Given the description of an element on the screen output the (x, y) to click on. 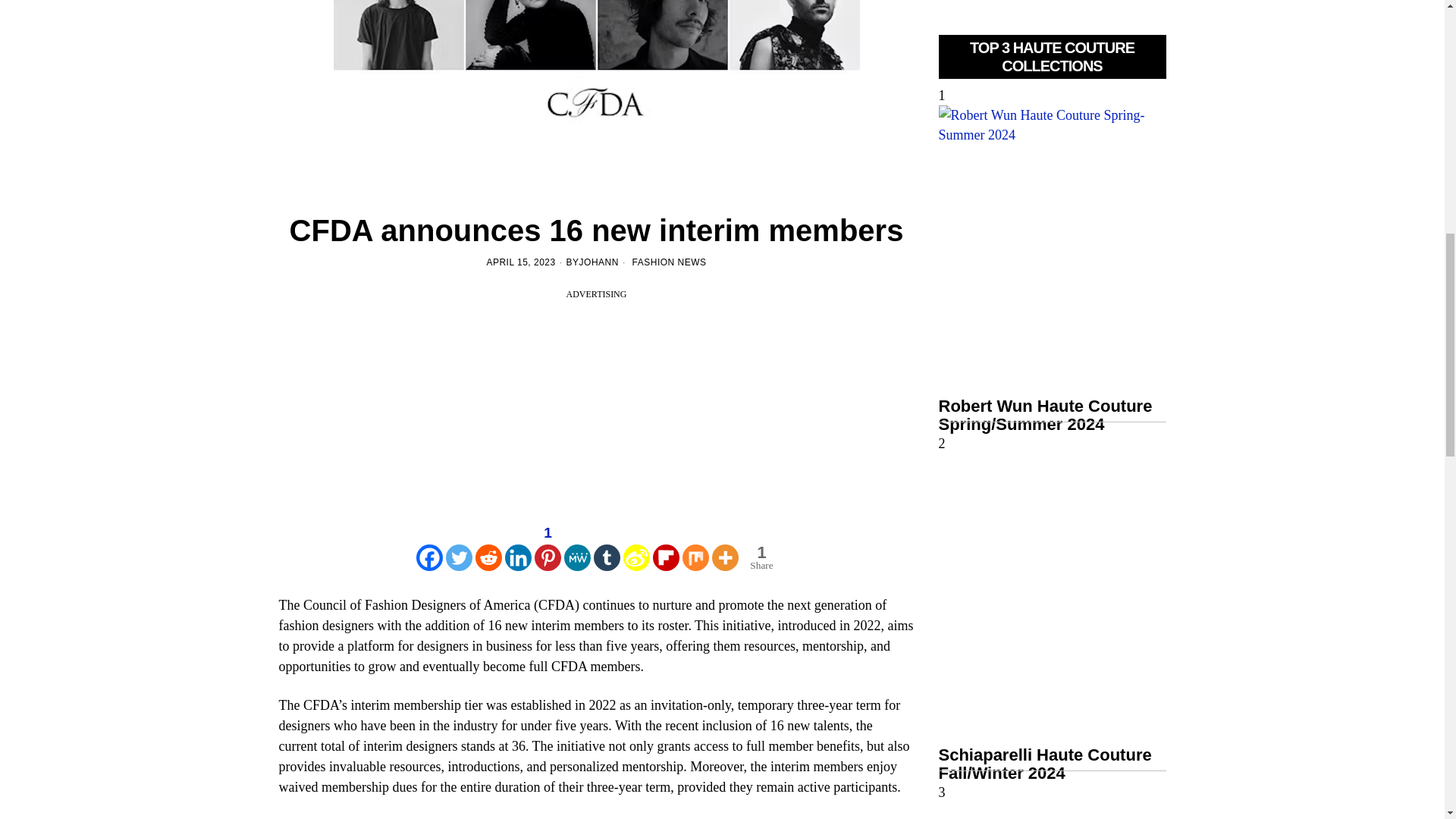
CFDA announces 16 new interim members (596, 92)
JOHANN (598, 262)
15 Apr, 2023 08:00:00 (520, 262)
FASHION NEWS (668, 262)
